Given the description of an element on the screen output the (x, y) to click on. 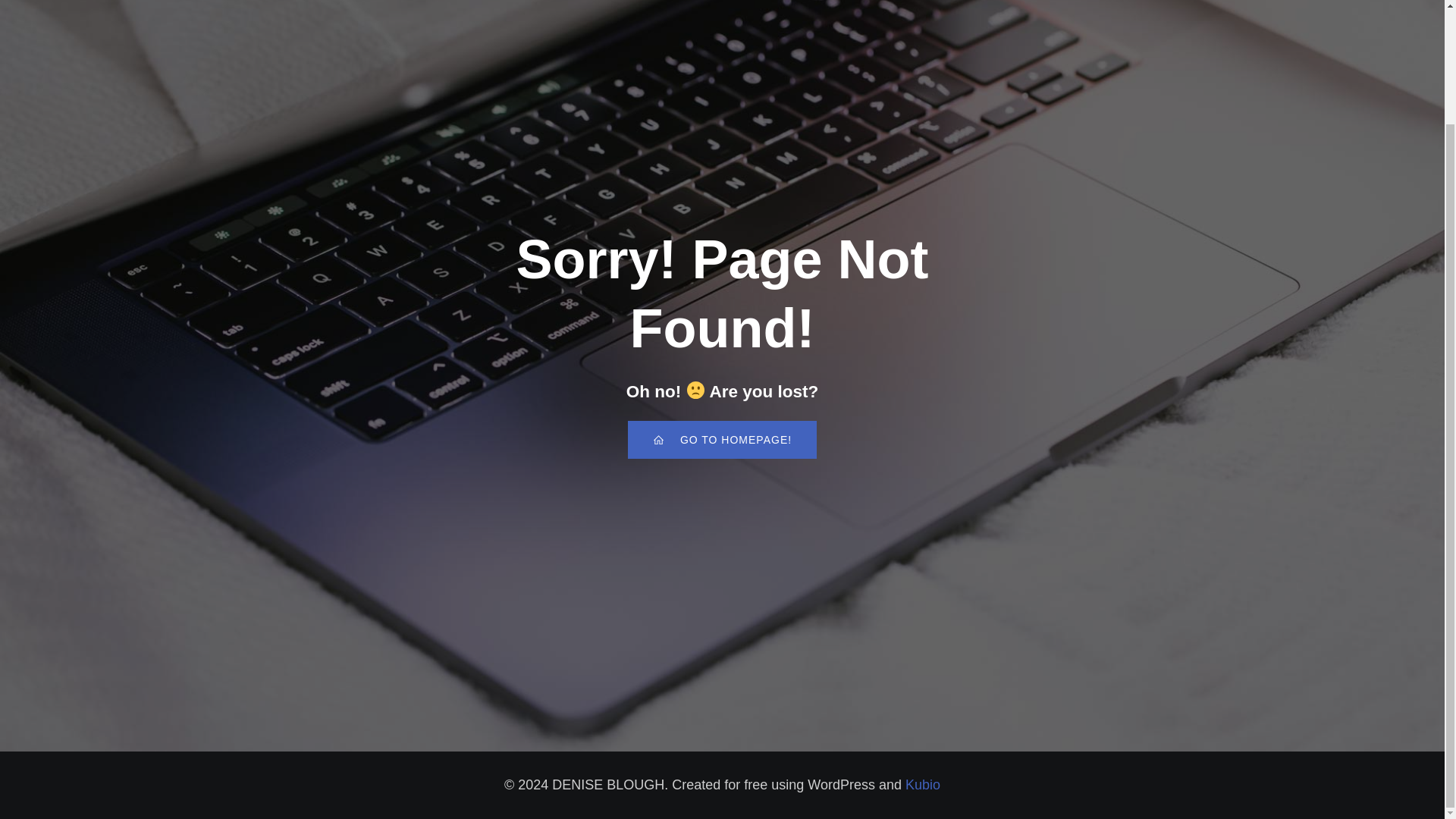
Kubio (922, 784)
GO TO HOMEPAGE! (721, 439)
